Given the description of an element on the screen output the (x, y) to click on. 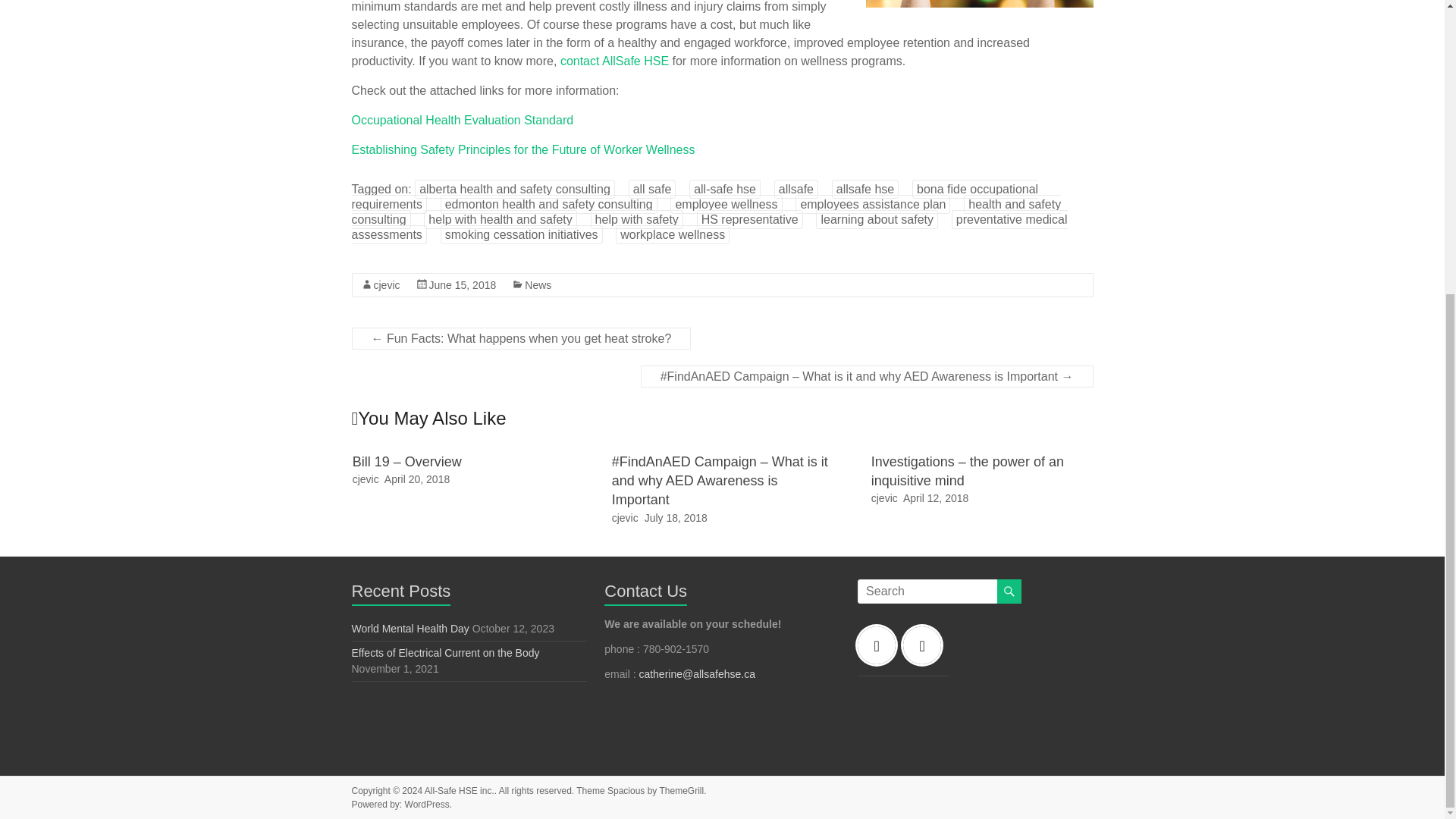
contact AllSafe HSE (614, 60)
cjevic (385, 285)
all-safe hse (724, 189)
HS representative (750, 219)
6:01 pm (462, 285)
help with safety (636, 219)
allsafe hse (865, 189)
employees assistance plan (872, 203)
employee wellness (725, 203)
All-Safe HSE inc. (460, 790)
health and safety consulting (706, 211)
Occupational Health Evaluation Standard (462, 119)
News (537, 285)
Spacious (626, 790)
